Given the description of an element on the screen output the (x, y) to click on. 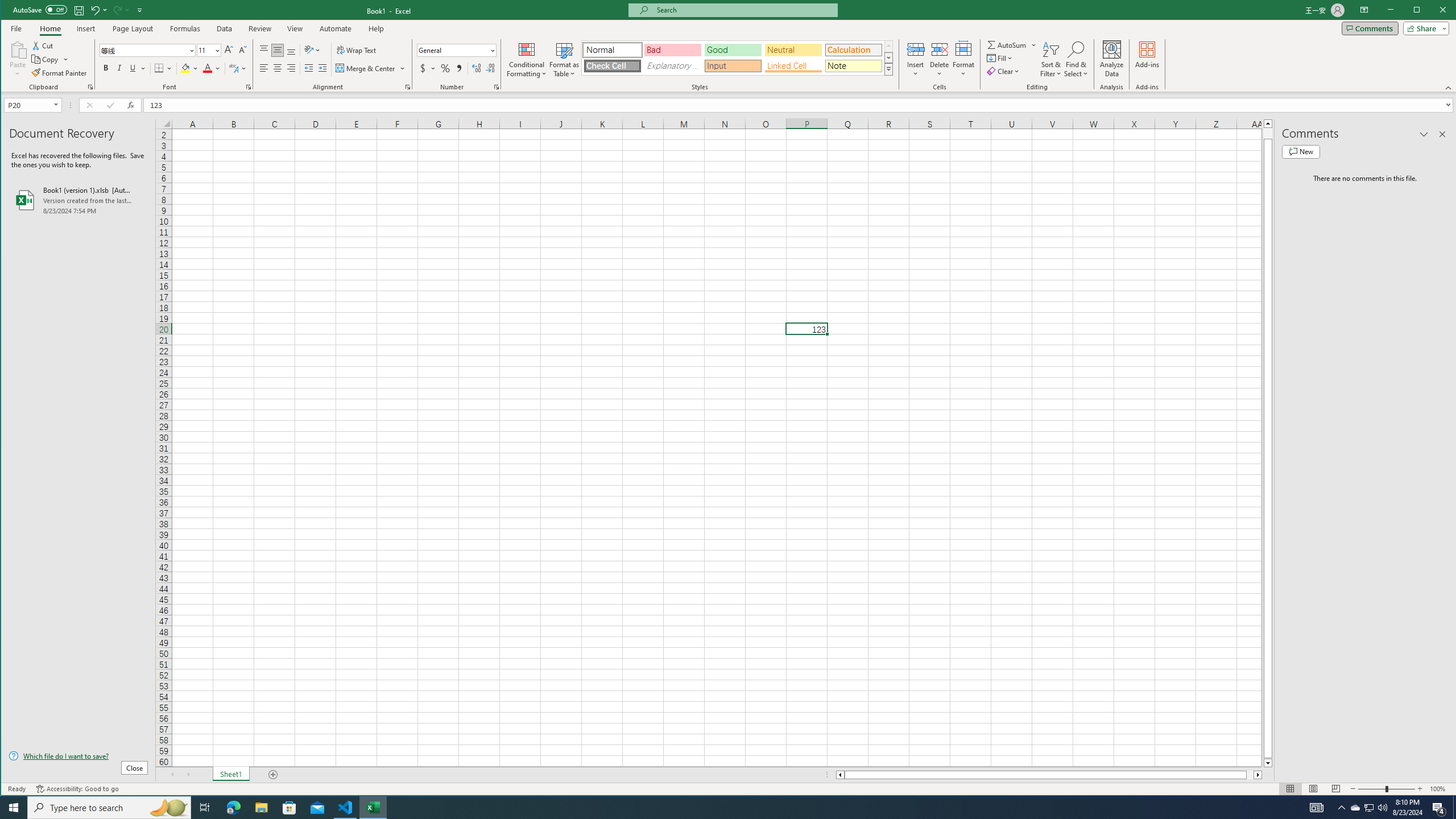
Decrease Font Size (241, 49)
Fill Color (189, 68)
Font Size (205, 50)
Page up (1267, 132)
Notification Chevron (1341, 807)
Underline (132, 68)
File Explorer (261, 807)
User Promoted Notification Area (1368, 807)
